Given the description of an element on the screen output the (x, y) to click on. 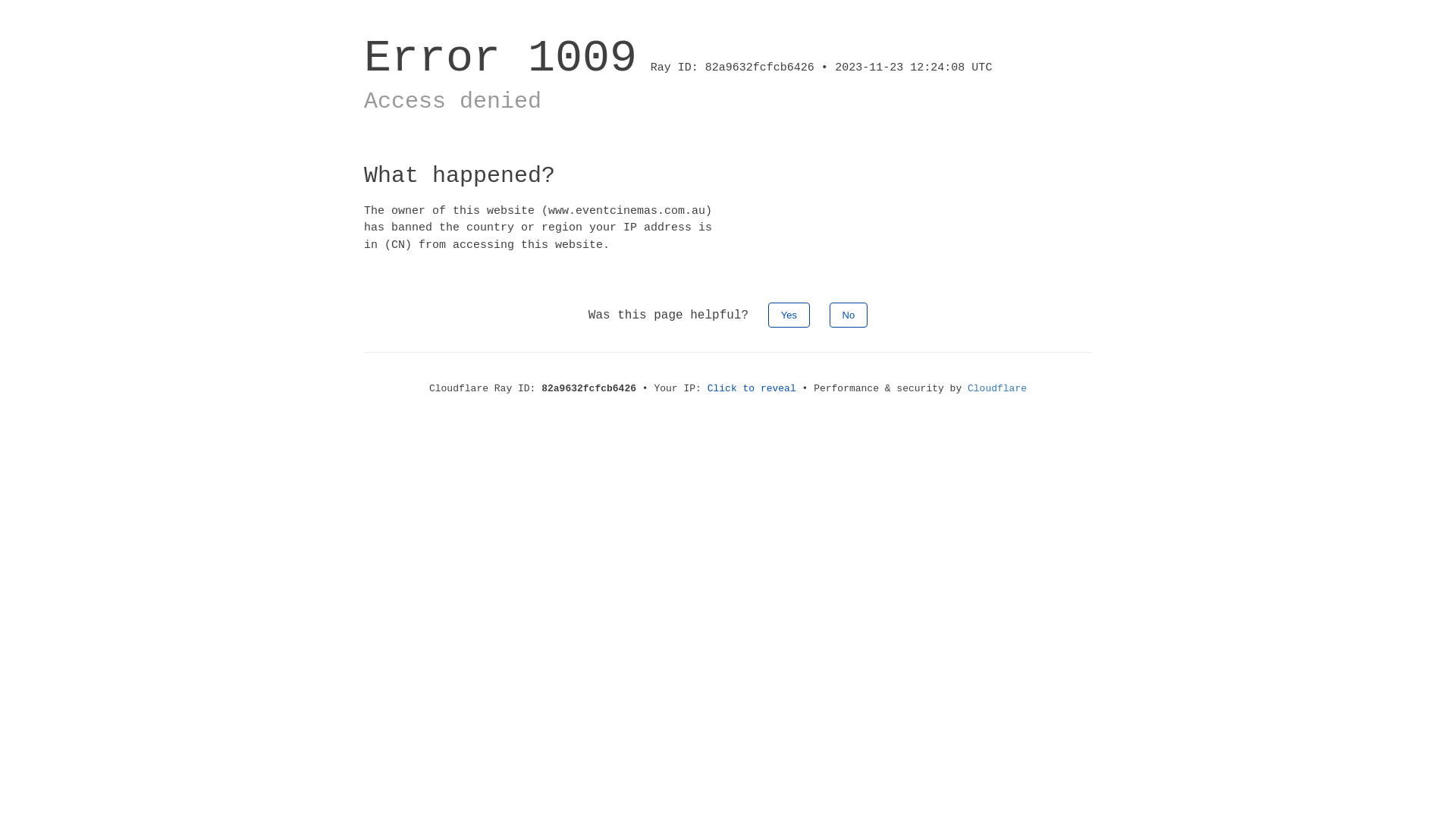
No Element type: text (848, 314)
Click to reveal Element type: text (751, 388)
Yes Element type: text (788, 314)
Cloudflare Element type: text (996, 388)
